Given the description of an element on the screen output the (x, y) to click on. 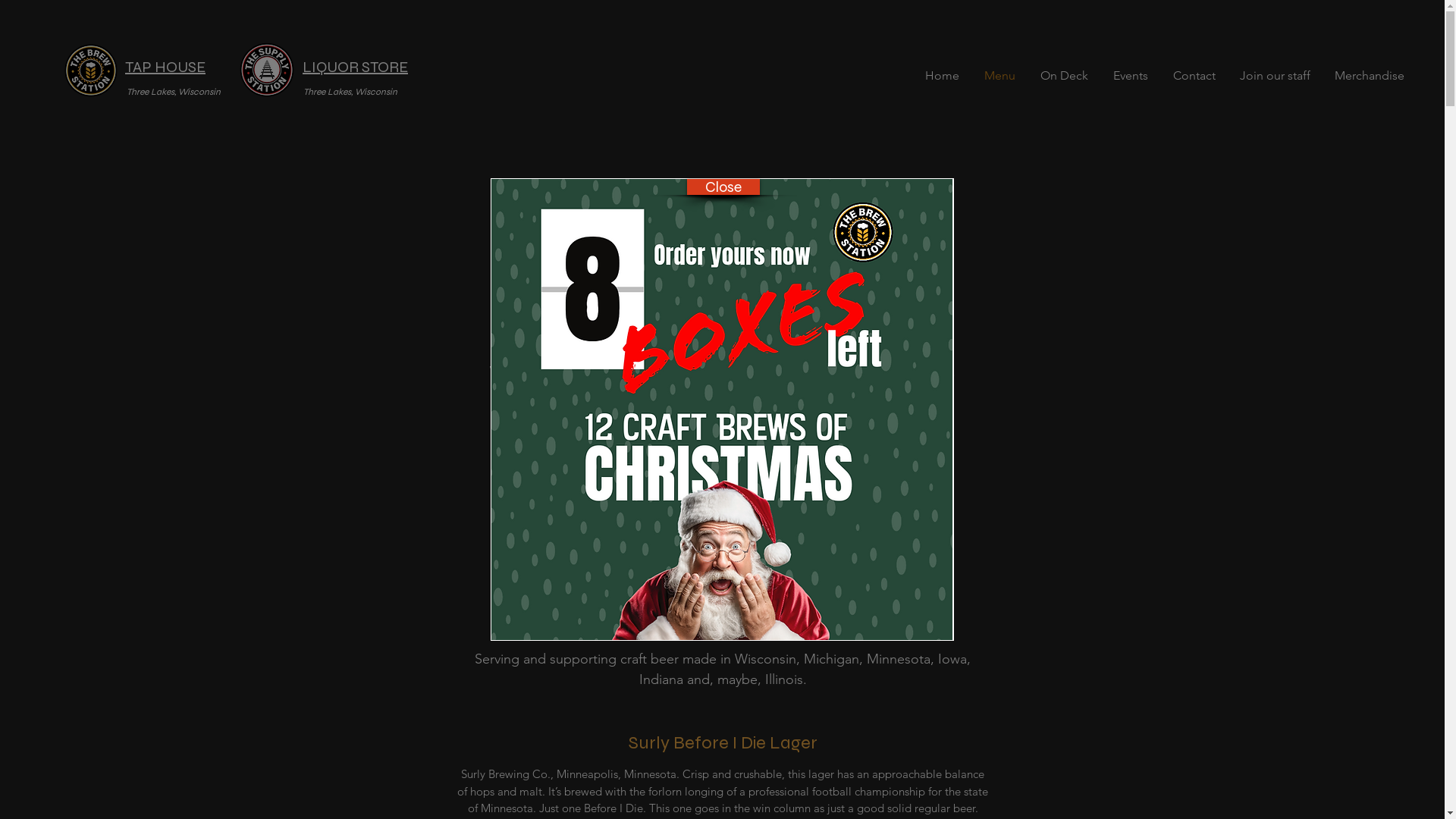
Join our staff Element type: text (1274, 75)
Home Element type: text (941, 75)
LIQUOR STORE Element type: text (354, 66)
On Deck Element type: text (1063, 75)
Merchandise Element type: text (1369, 75)
Events Element type: text (1130, 75)
Menu Element type: text (999, 75)
TAP HOUSE Element type: text (165, 66)
BrewStation-01.png Element type: hover (90, 69)
Contact Element type: text (1193, 75)
